Given the description of an element on the screen output the (x, y) to click on. 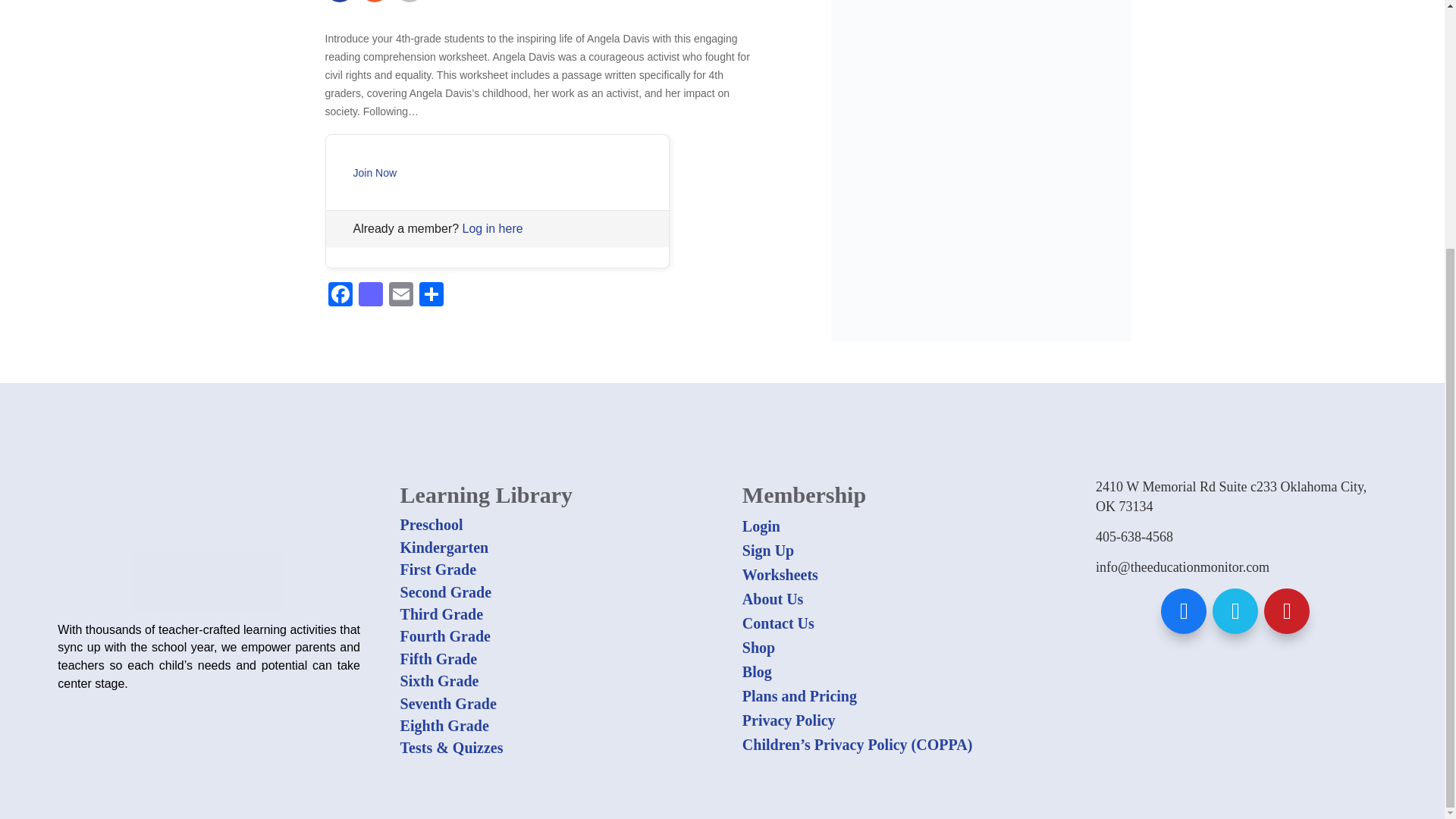
First Grade (438, 569)
Seventh Grade (448, 703)
Follow on Facebook (338, 1)
Preschool (431, 524)
Fourth Grade (445, 636)
Follow on Pinterest (408, 1)
edumonitor (209, 581)
Join Now (375, 173)
Sixth Grade (439, 680)
Second Grade (446, 591)
